Given the description of an element on the screen output the (x, y) to click on. 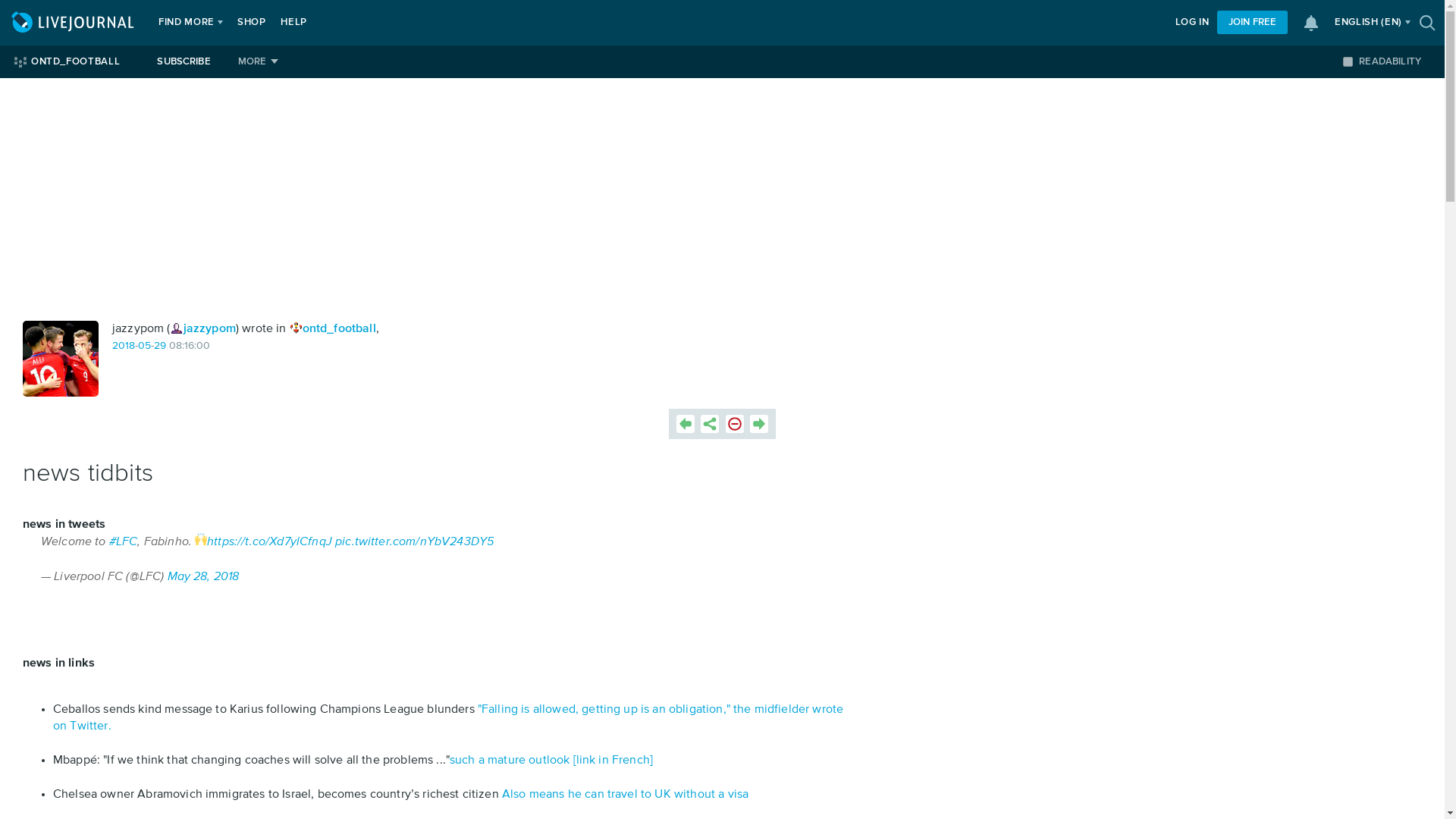
JOIN FREE (1252, 22)
MORE (257, 61)
LIVEJOURNAL (73, 22)
Share (709, 423)
FIND MORE (186, 22)
on (1347, 61)
HELP (293, 22)
SUBSCRIBE (183, 61)
Previous (685, 423)
SHOP (251, 22)
LOG IN (1192, 22)
jazzypom: dier alli kane (61, 358)
